Given the description of an element on the screen output the (x, y) to click on. 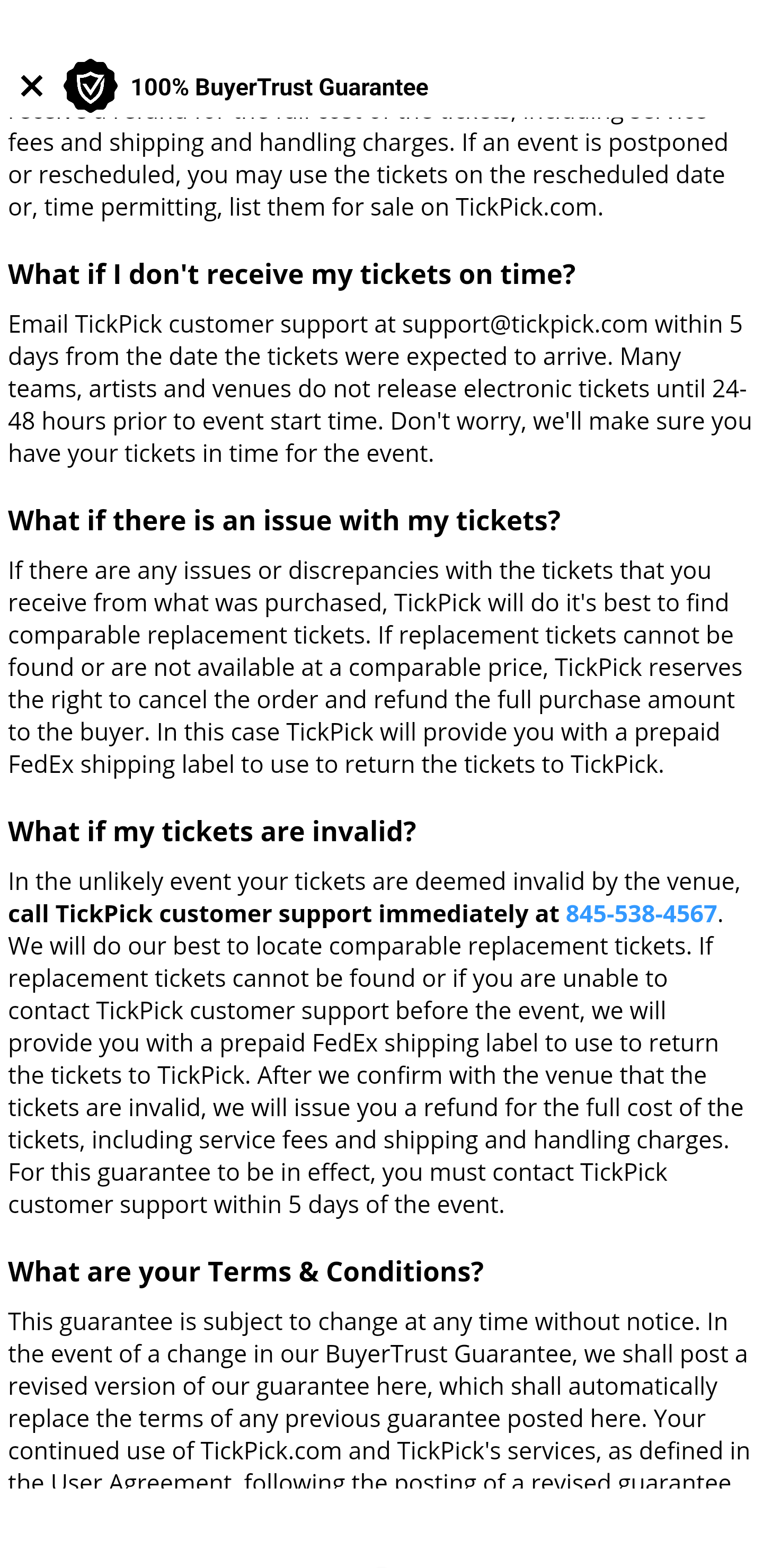
845-538-4567 (641, 915)
